Given the description of an element on the screen output the (x, y) to click on. 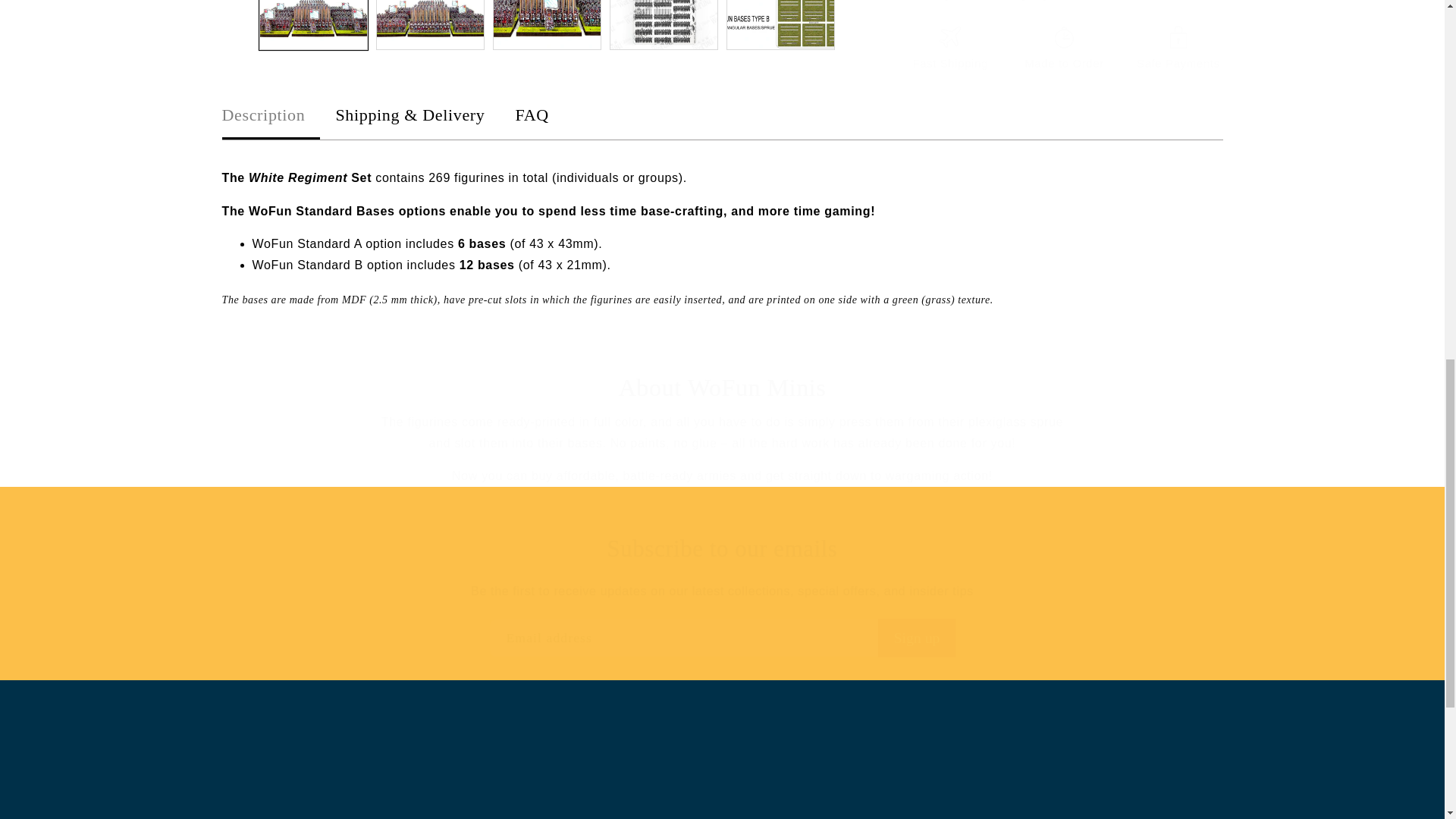
Subscribe to our emails (722, 548)
About WoFun Minis (722, 388)
